Given the description of an element on the screen output the (x, y) to click on. 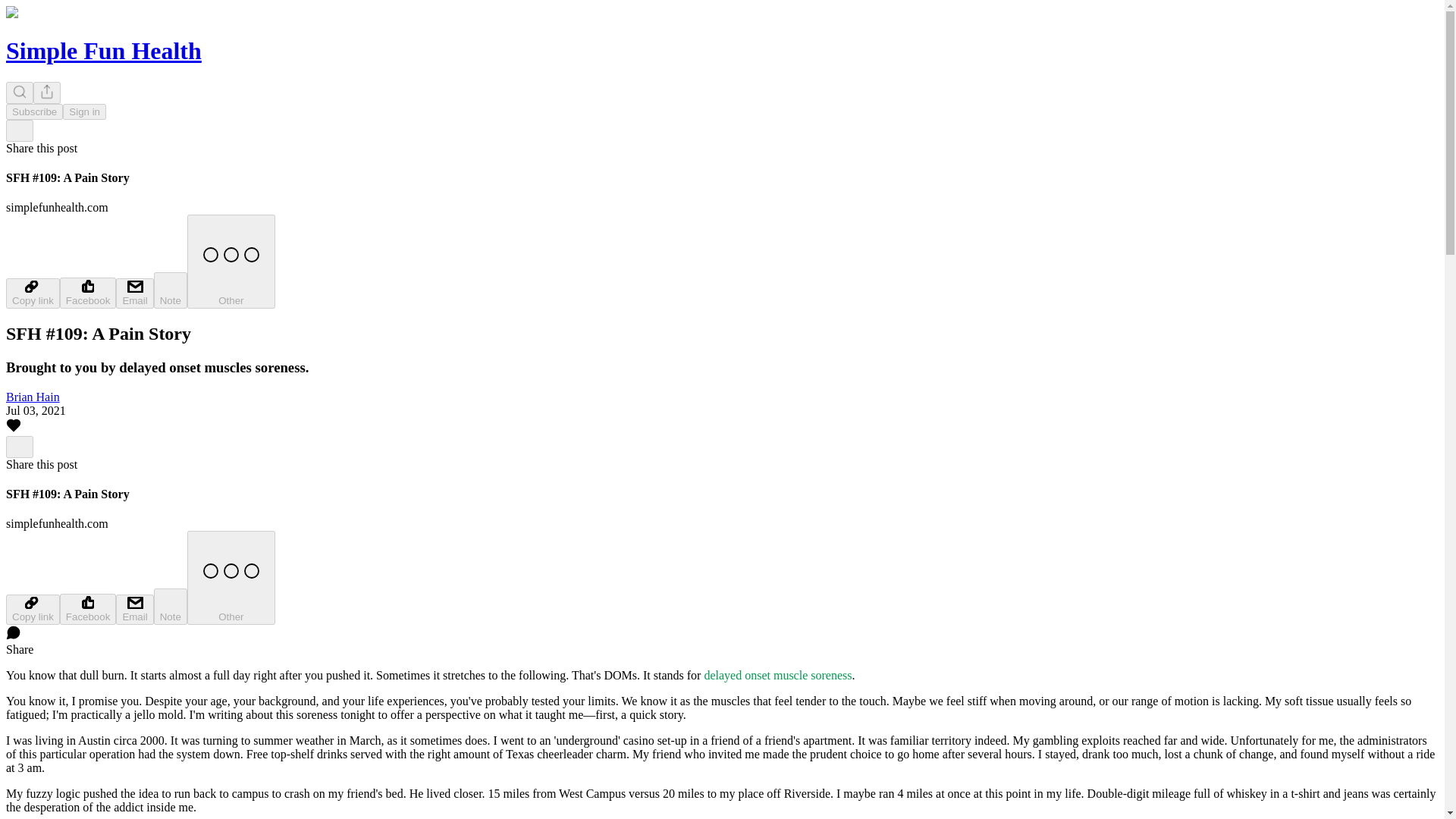
Email (134, 293)
Facebook (87, 608)
Email (134, 609)
Copy link (32, 609)
Note (170, 289)
Facebook (87, 292)
Sign in (84, 111)
delayed onset muscle soreness (777, 675)
Simple Fun Health (103, 50)
Brian Hain (32, 396)
